Given the description of an element on the screen output the (x, y) to click on. 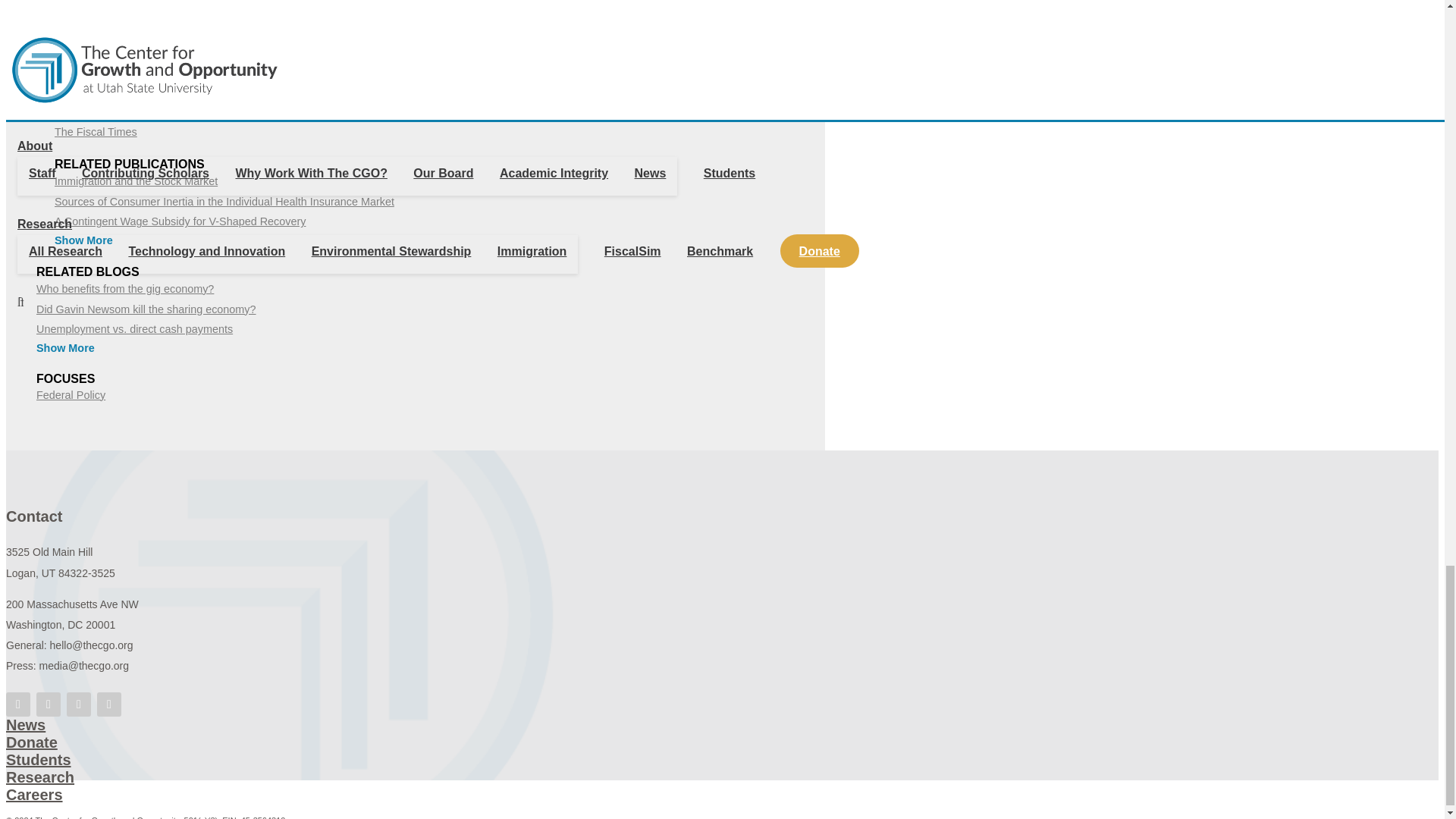
Who benefits from the gig economy? (125, 288)
Show More (84, 240)
A Contingent Wage Subsidy for V-Shaped Recovery (180, 221)
The Fiscal Times (95, 132)
Federal Policy (70, 395)
Show More (65, 347)
Did Gavin Newsom kill the sharing economy? (146, 309)
Immigration and the Stock Market (135, 181)
Unemployment vs. direct cash payments (134, 328)
